Given the description of an element on the screen output the (x, y) to click on. 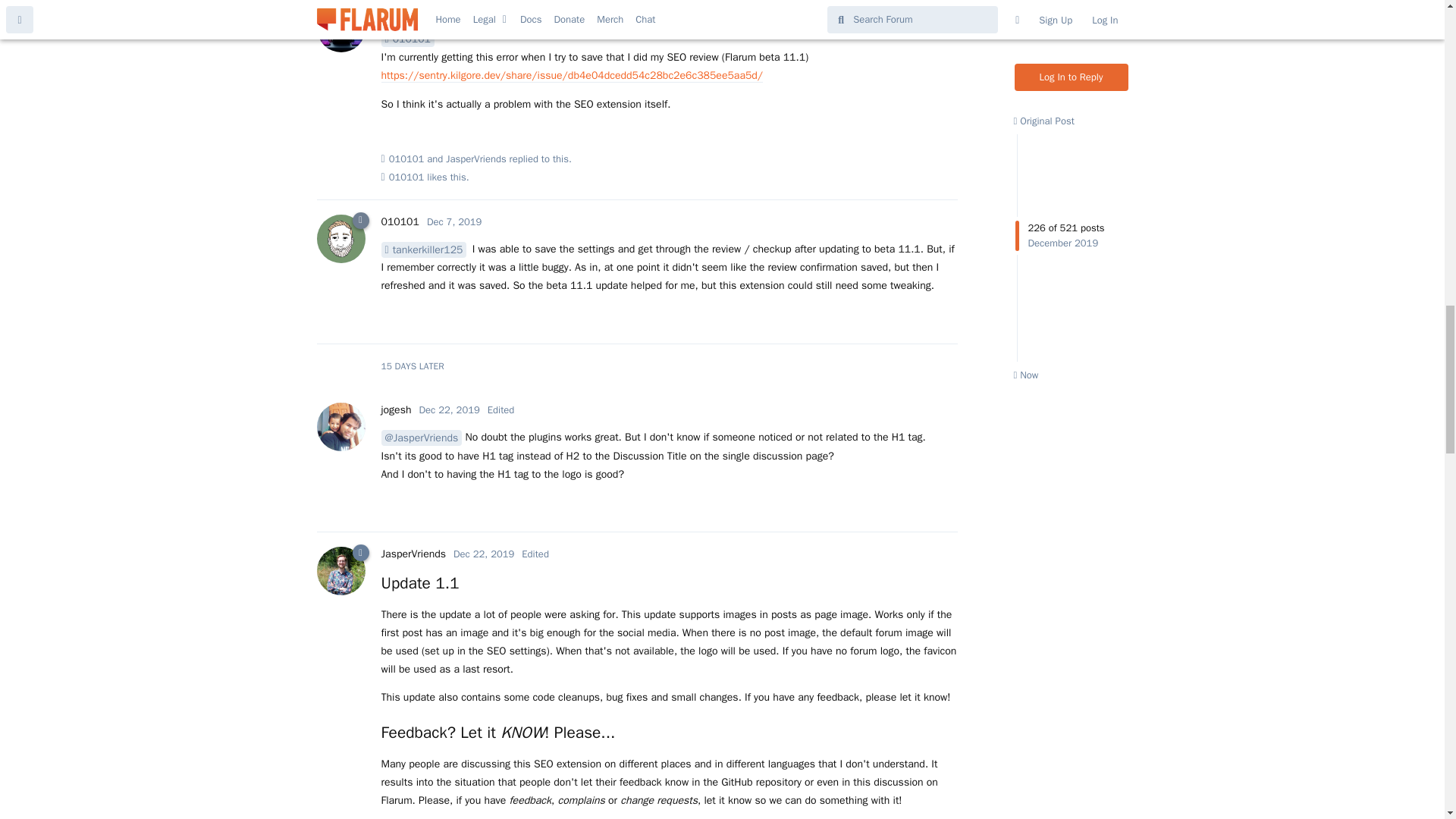
Thursday, December 5, 2019 8:16 AM (485, 10)
Saturday, December 7, 2019 1:34 PM (453, 221)
Sunday, December 22, 2019 12:00 PM (449, 409)
